Given the description of an element on the screen output the (x, y) to click on. 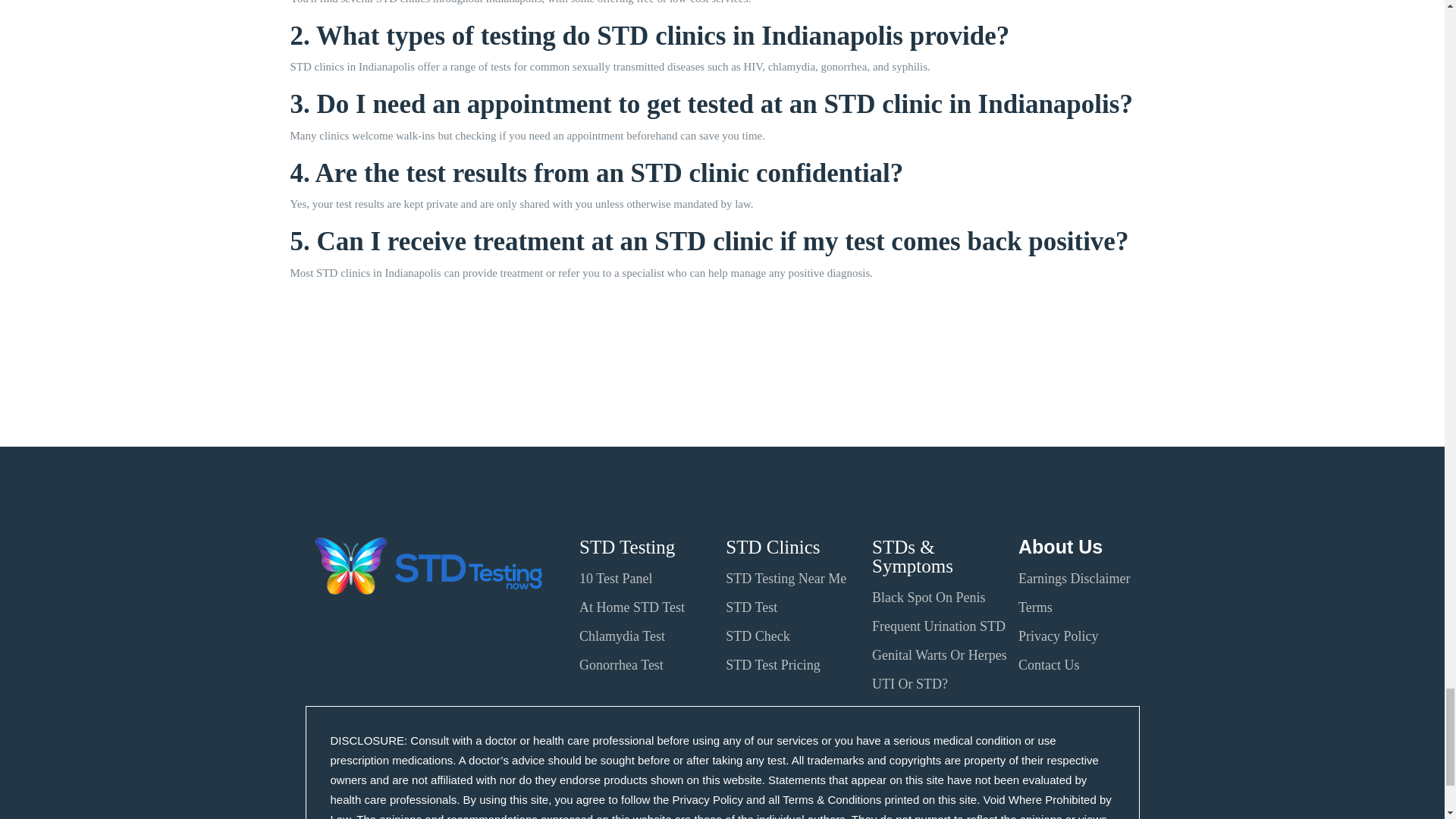
STD Test (751, 607)
At Home STD Test (631, 607)
STD Testing Near Me (785, 578)
Chlamydia Test (622, 635)
STD Clinics (772, 547)
10 Test Panel (615, 578)
STD Testing (627, 547)
Gonorrhea Test (621, 664)
